Given the description of an element on the screen output the (x, y) to click on. 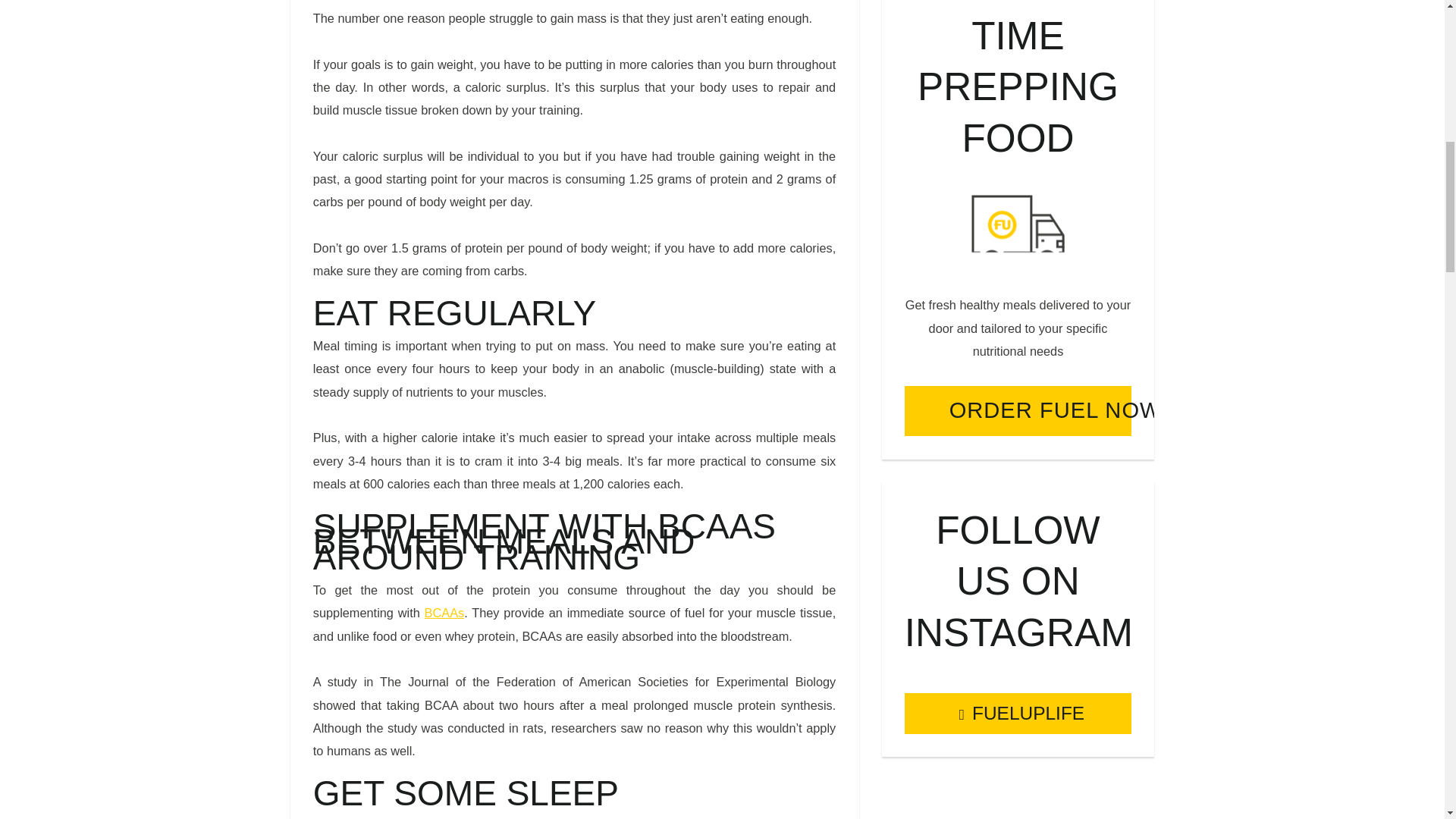
FUELUPLIFE (1017, 712)
BCAAs (444, 612)
ORDER FUEL NOW (1017, 410)
